Given the description of an element on the screen output the (x, y) to click on. 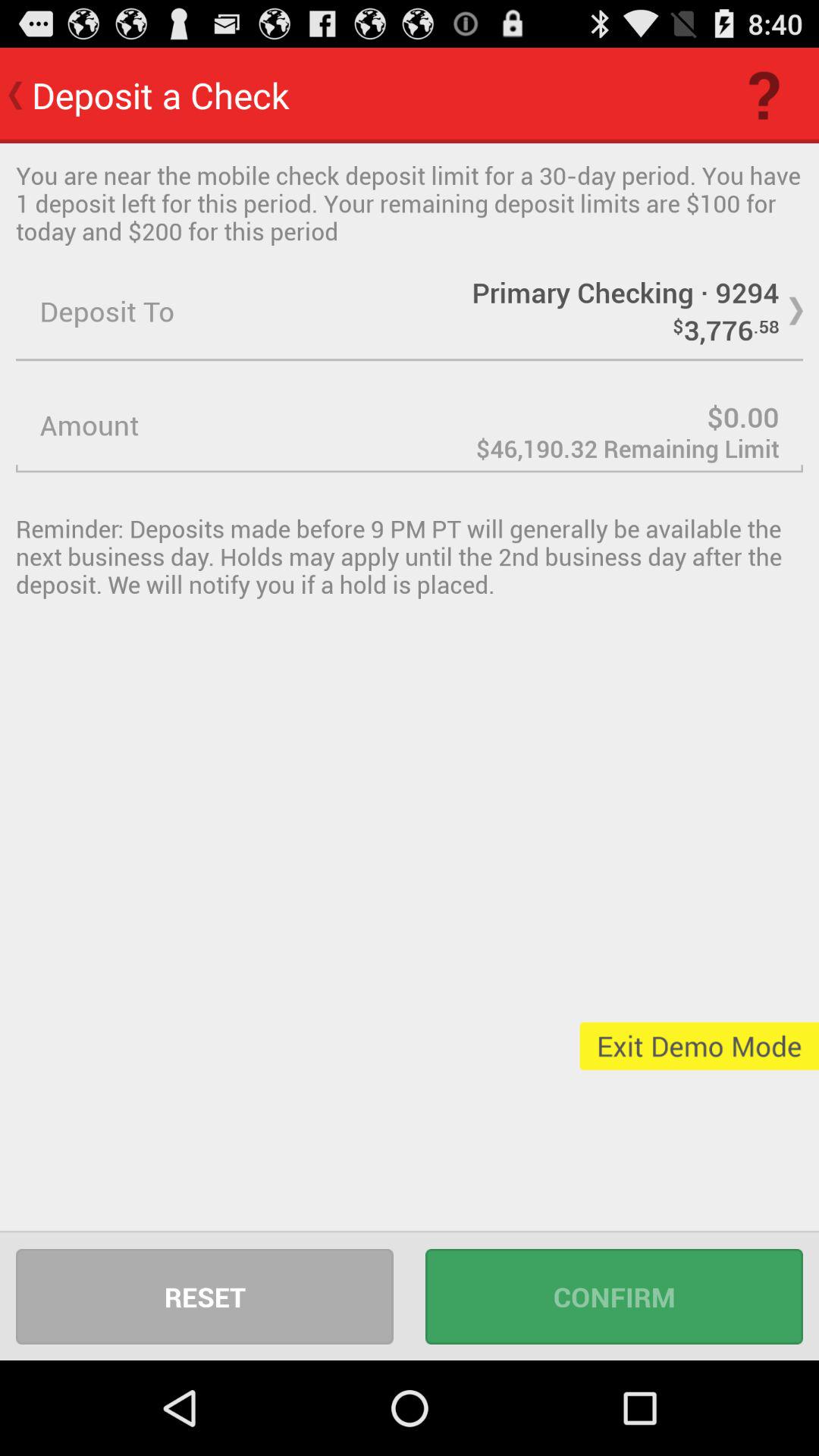
launch icon to the left of confirm icon (204, 1296)
